Given the description of an element on the screen output the (x, y) to click on. 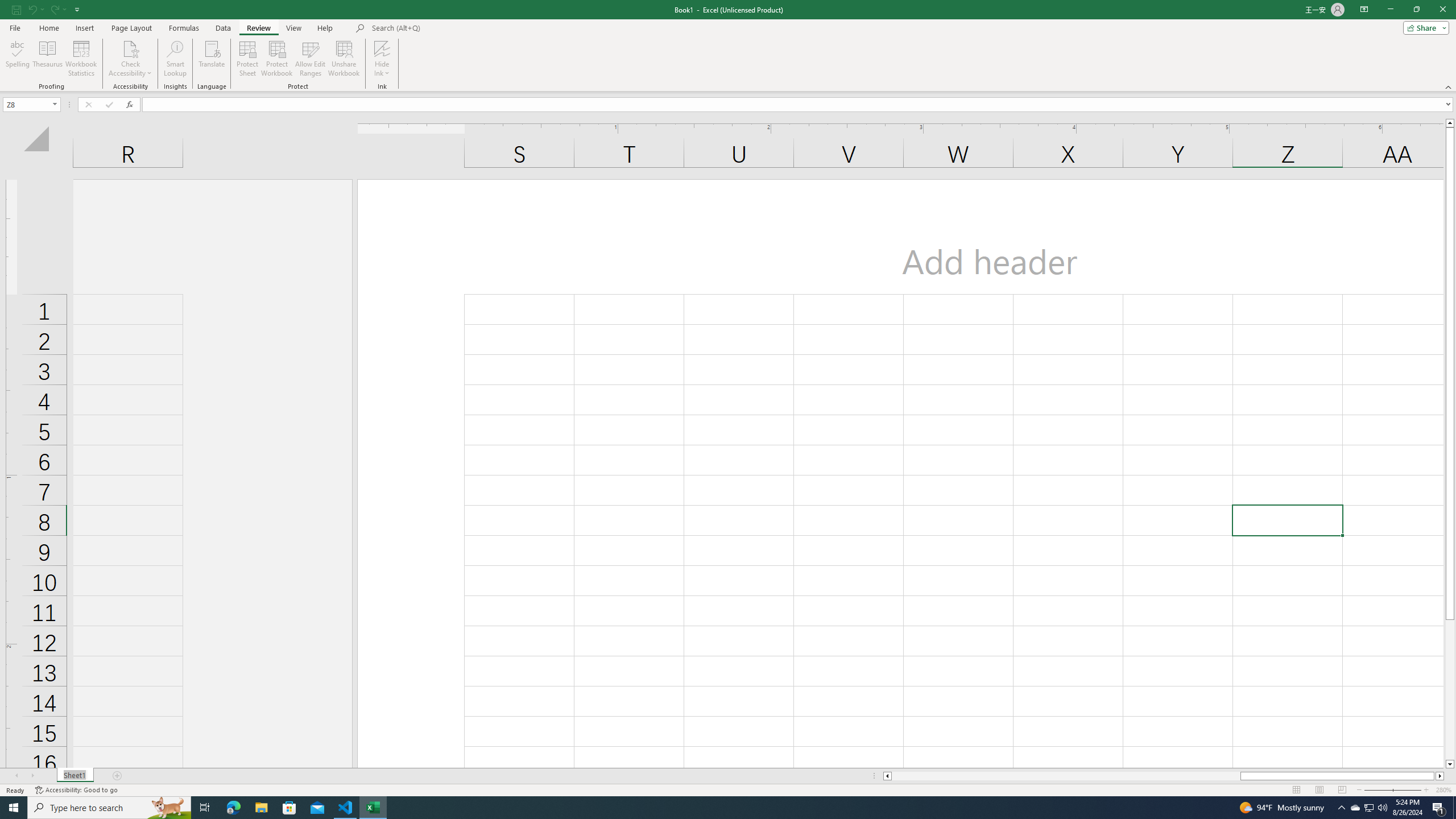
Protect Sheet... (247, 58)
